Given the description of an element on the screen output the (x, y) to click on. 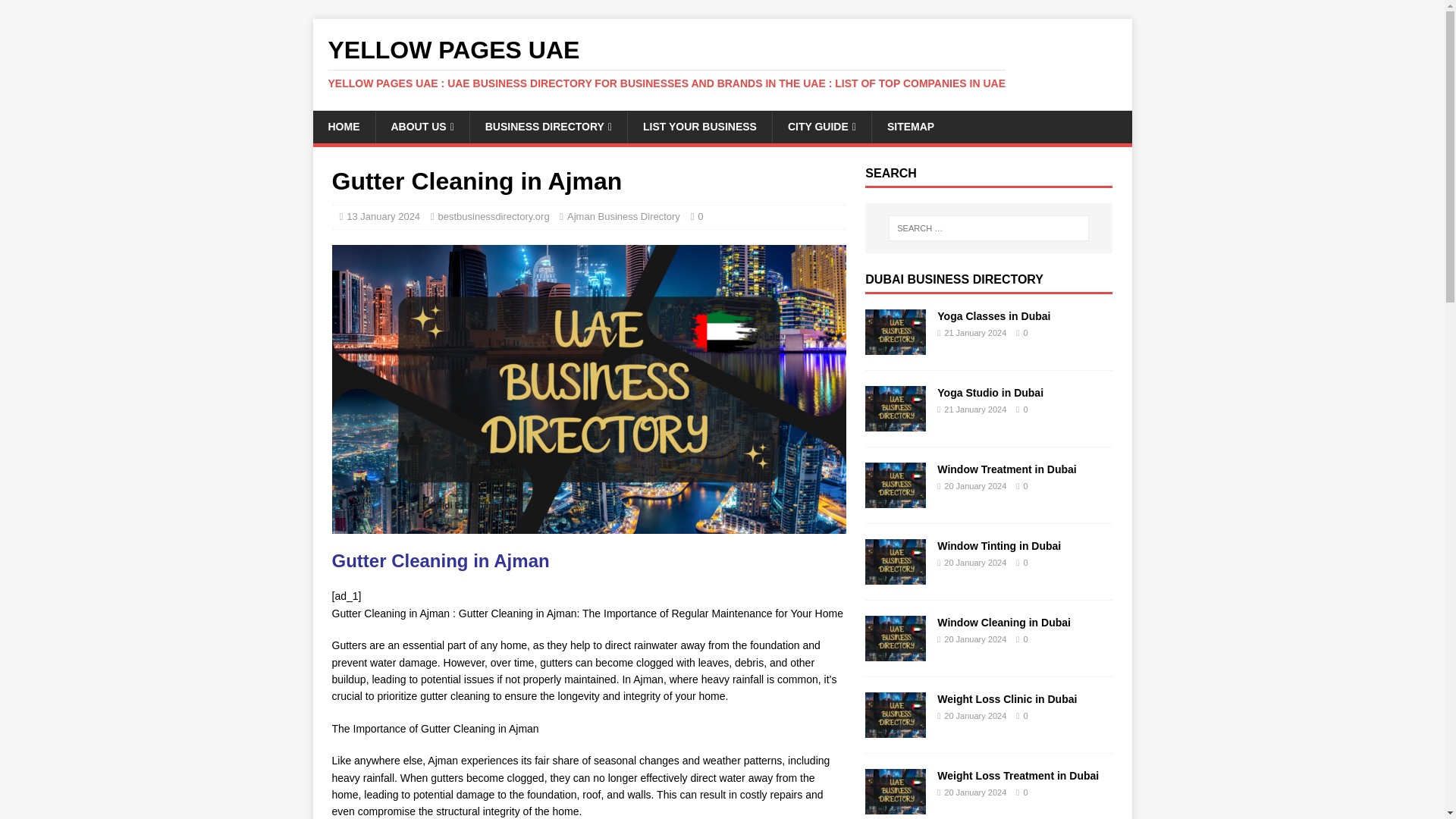
Window Tinting in Dubai (895, 576)
Weight Loss Clinic in Dubai (1007, 698)
Yoga Classes in Dubai (895, 346)
Yoga Studio in Dubai (895, 422)
Window Treatment in Dubai (895, 499)
Window Cleaning in Dubai (895, 653)
Weight Loss Treatment in Dubai (895, 806)
Window Tinting in Dubai (999, 545)
Window Treatment in Dubai (1006, 469)
Yoga Studio in Dubai (990, 392)
Weight Loss Clinic in Dubai (895, 729)
HOME (343, 126)
ABOUT US (421, 126)
